Given the description of an element on the screen output the (x, y) to click on. 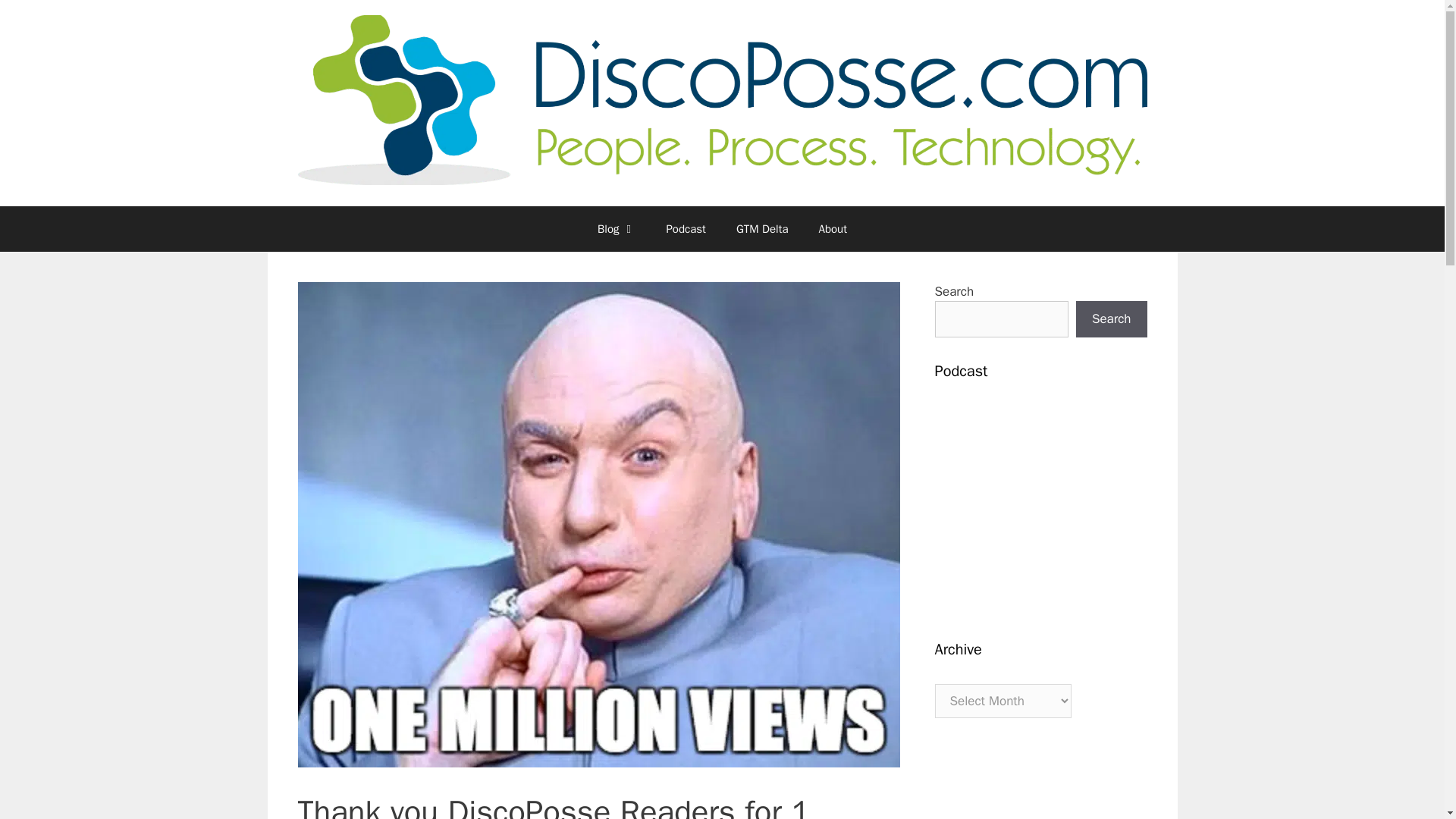
Podcast (685, 228)
Blog (616, 228)
GTM Delta (761, 228)
About (832, 228)
Search (1111, 319)
